Given the description of an element on the screen output the (x, y) to click on. 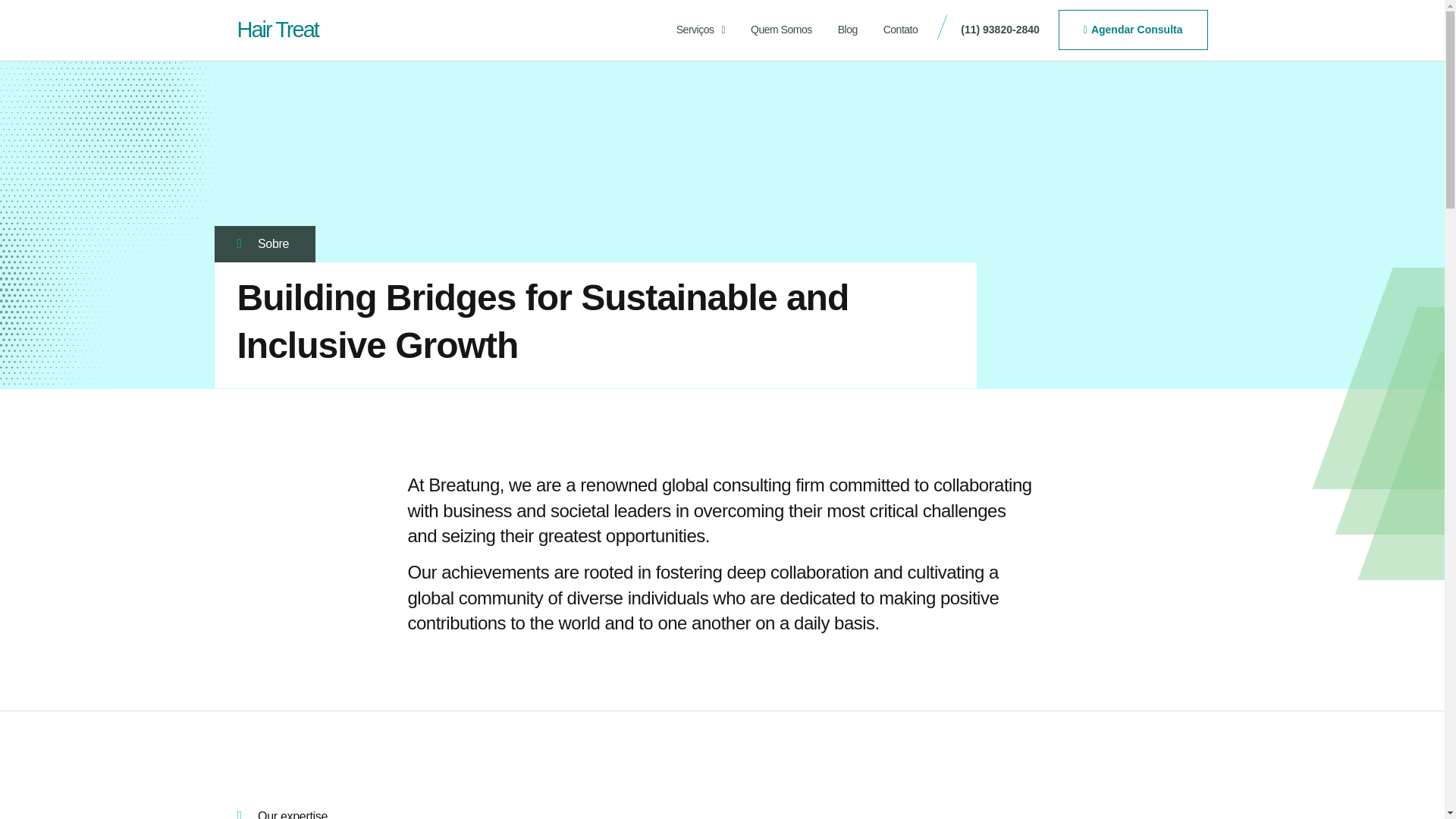
Hair Treat (276, 29)
Contato (901, 29)
Agendar Consulta (1133, 29)
Quem Somos (781, 29)
